Given the description of an element on the screen output the (x, y) to click on. 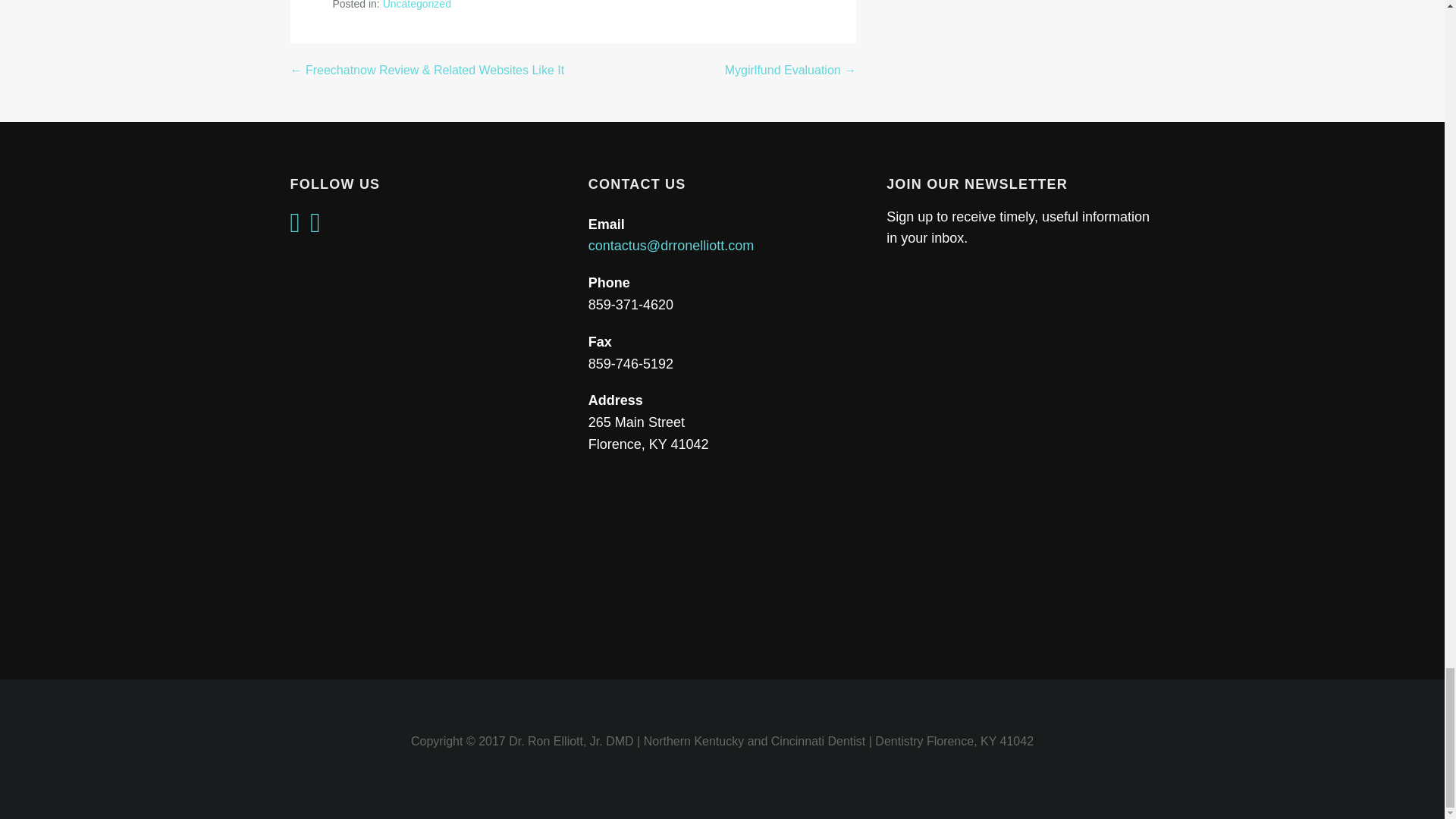
Uncategorized (416, 4)
Visit Cosmetic Dentist in NKY and Cincinnati on Facebook (294, 227)
Visit Cosmetic Dentist in NKY and Cincinnati on Instagram (315, 227)
